Given the description of an element on the screen output the (x, y) to click on. 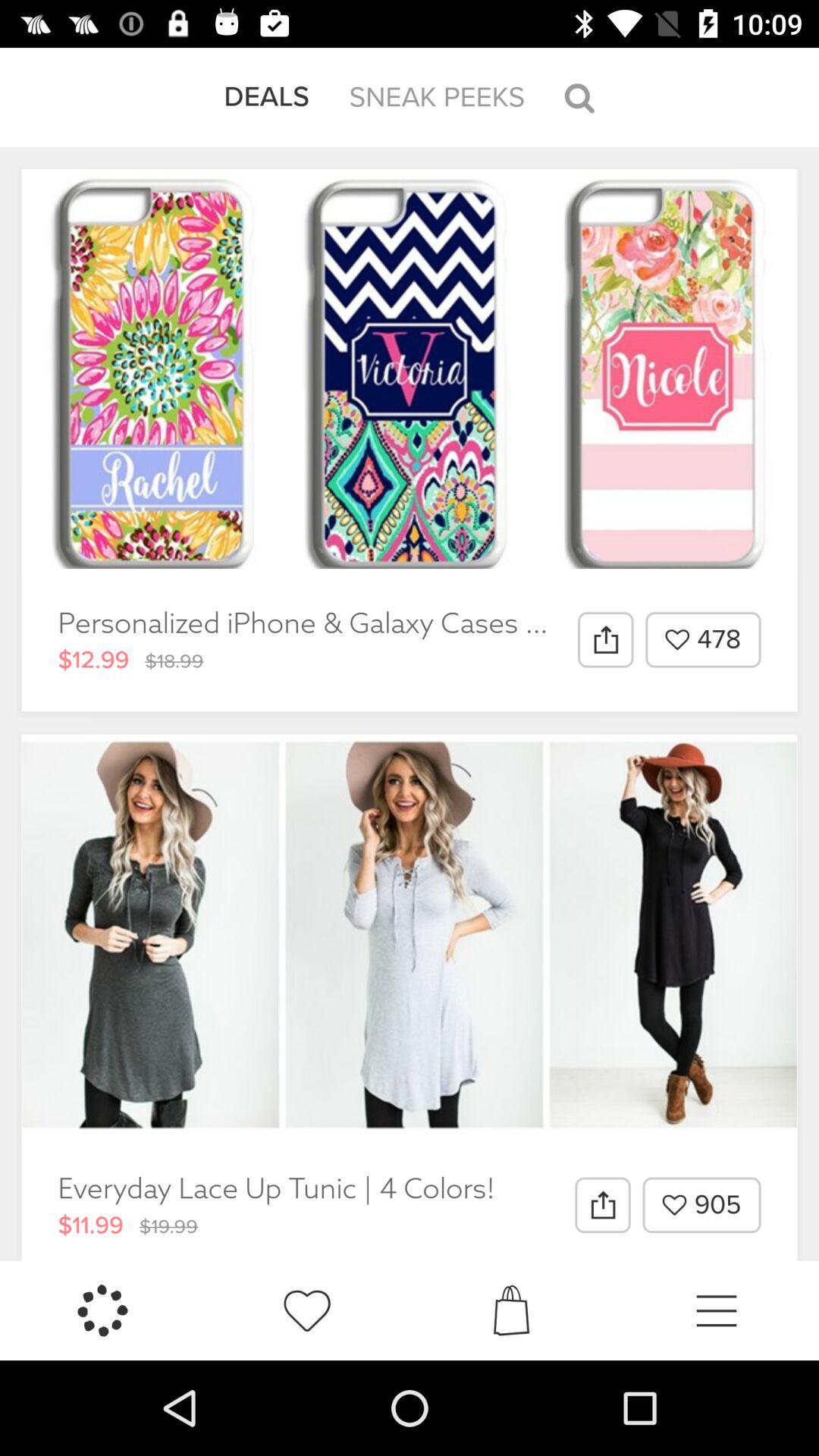
open the item to the right of everyday lace up item (602, 1205)
